Given the description of an element on the screen output the (x, y) to click on. 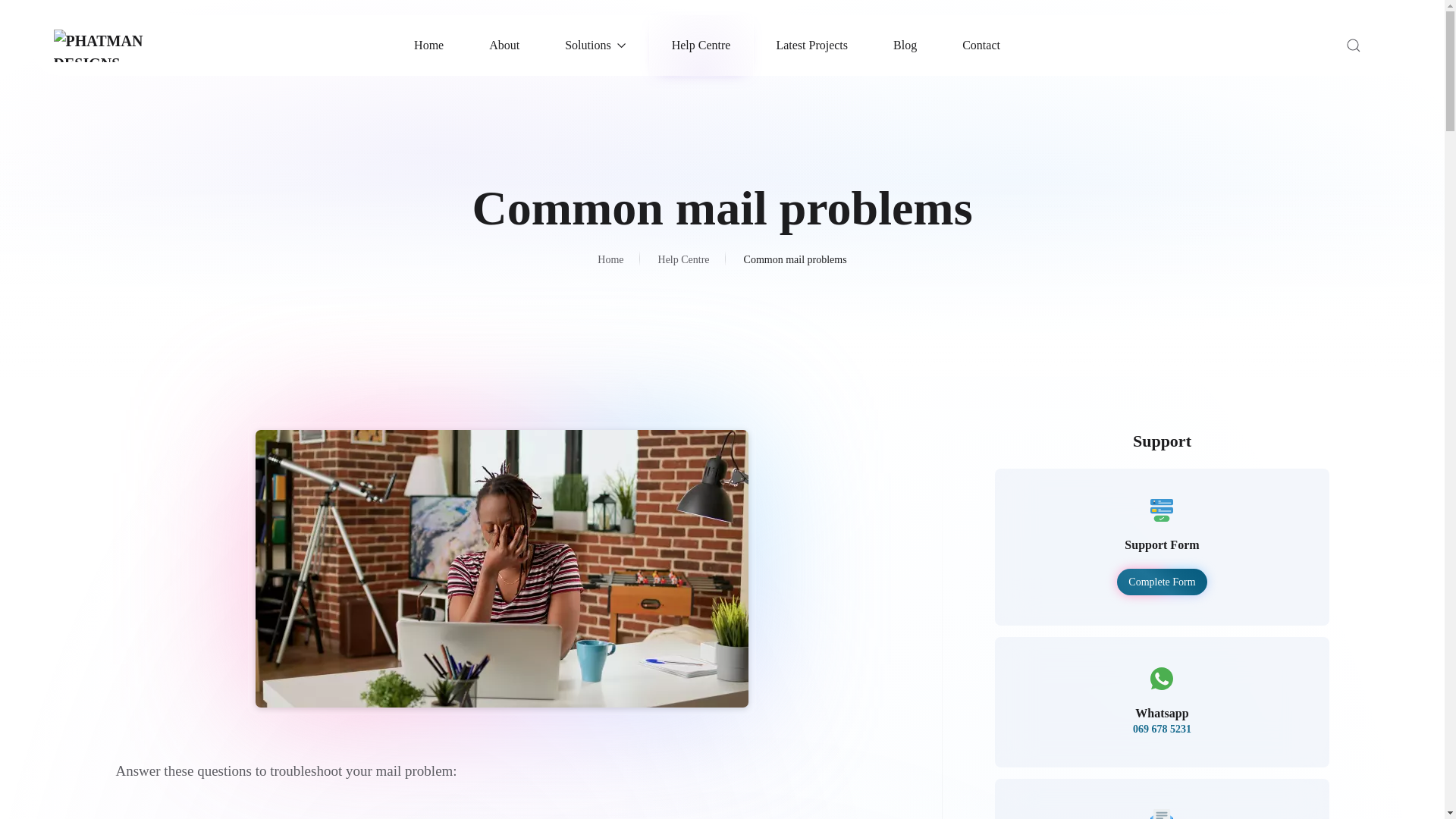
Home (428, 45)
Latest Projects (811, 45)
About (503, 45)
Help Centre (701, 45)
Blog (904, 45)
Contact (981, 45)
Solutions (594, 45)
